Given the description of an element on the screen output the (x, y) to click on. 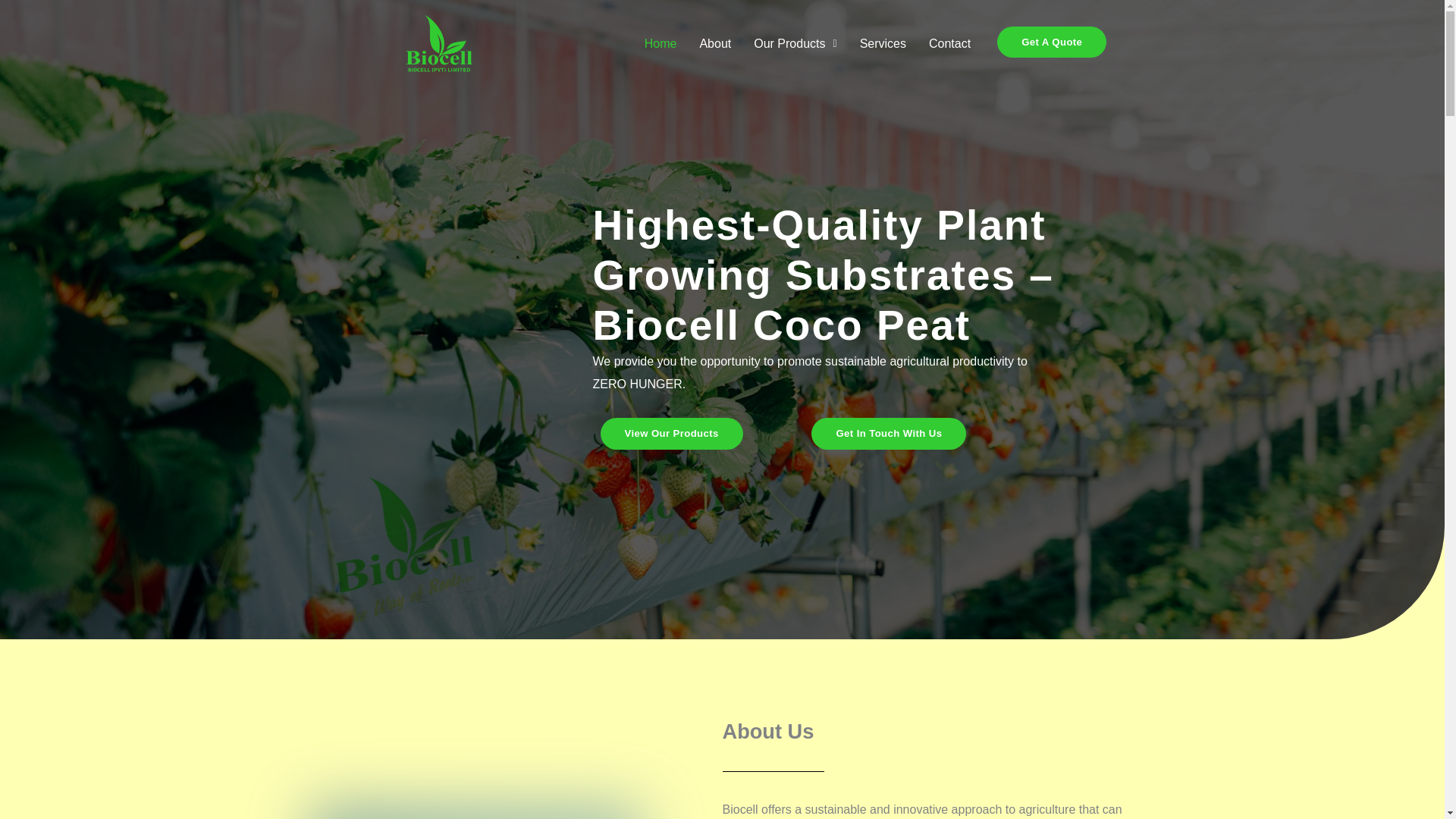
Services (882, 43)
Our Products (794, 43)
About (714, 43)
Get In Touch With Us (888, 432)
Contact (949, 43)
Home (660, 43)
Get A Quote (1051, 41)
View Our Products (670, 432)
